Given the description of an element on the screen output the (x, y) to click on. 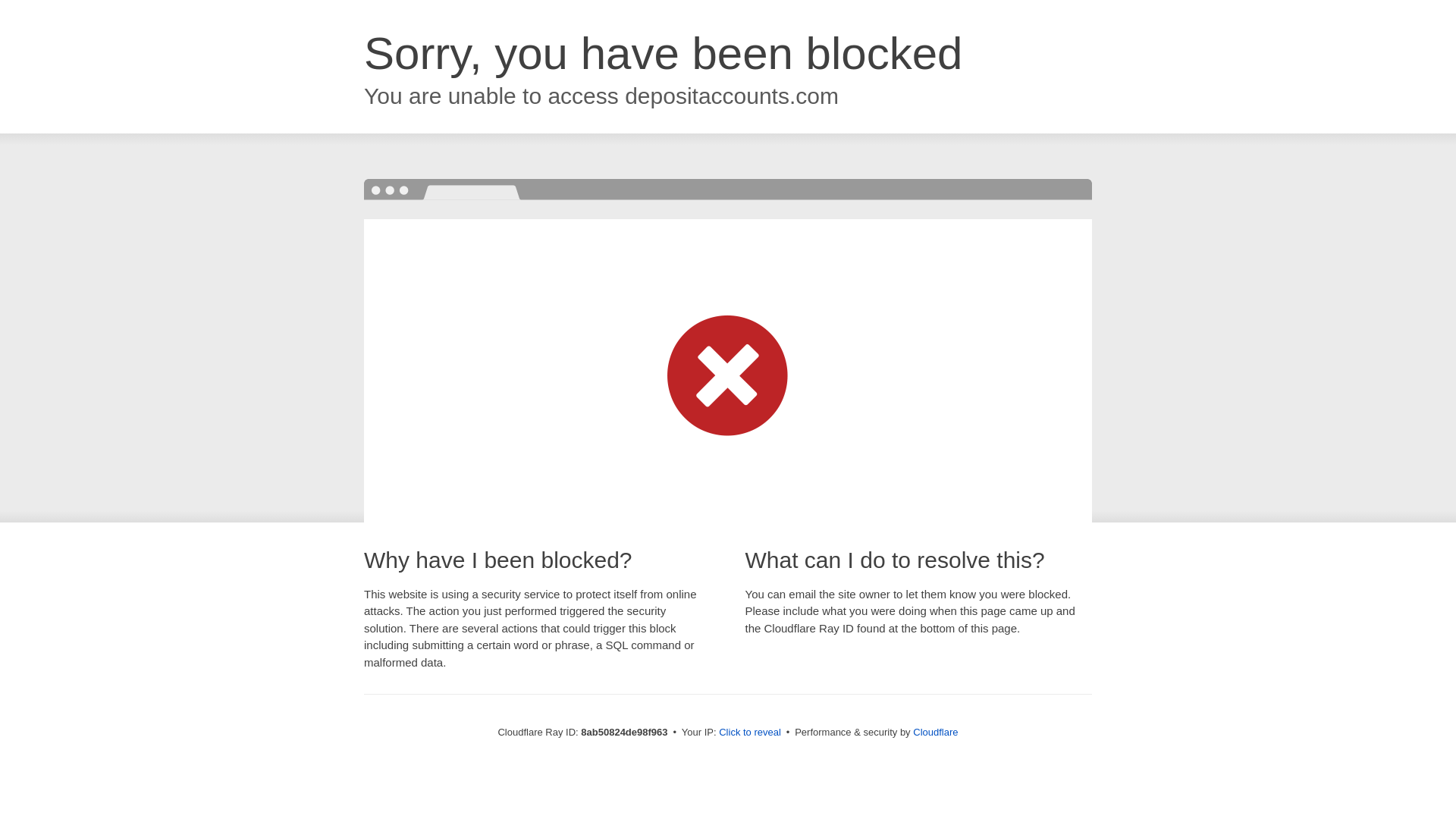
Cloudflare (935, 731)
Click to reveal (749, 732)
